Given the description of an element on the screen output the (x, y) to click on. 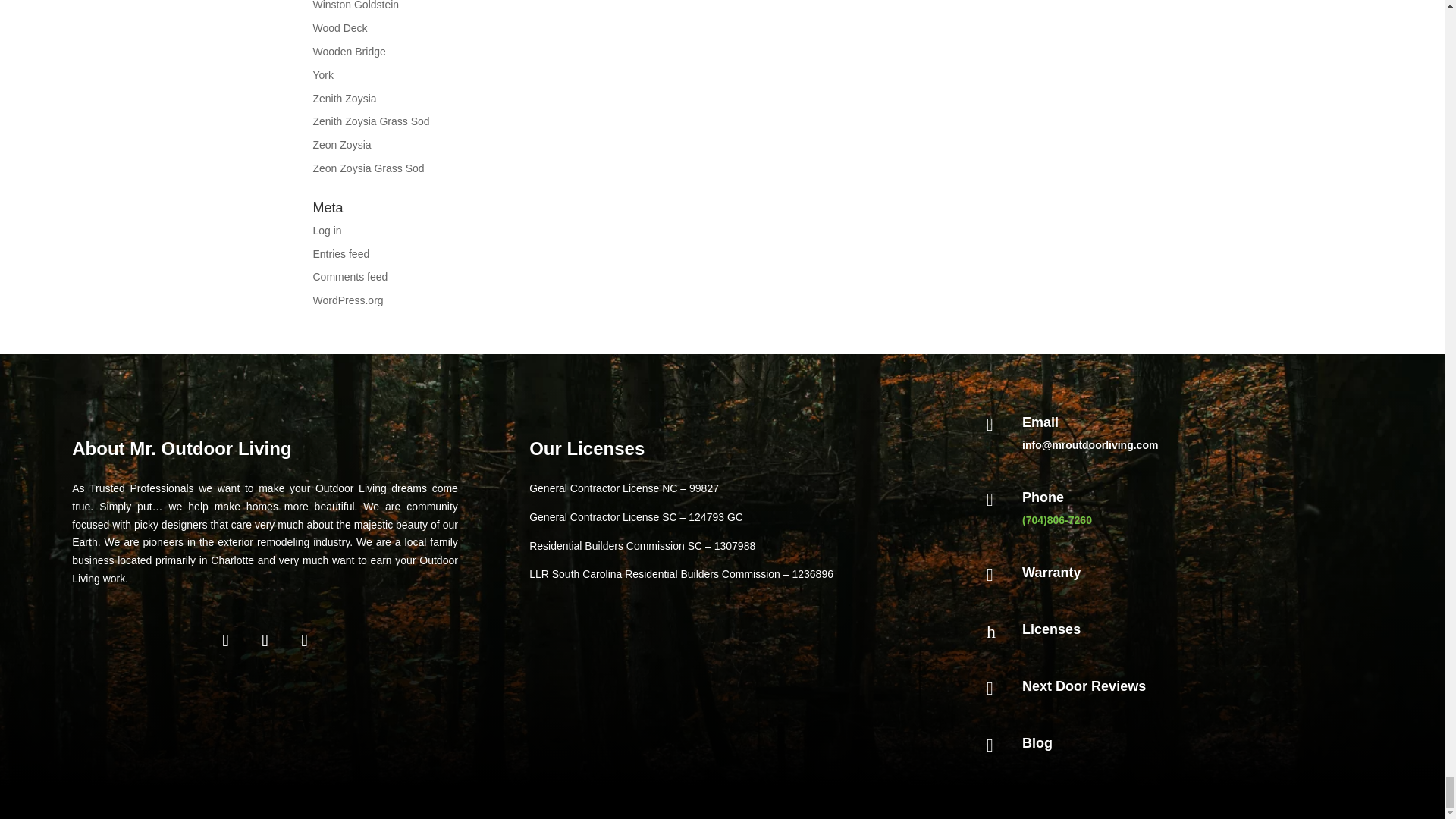
Follow on Instagram (265, 640)
Follow on Facebook (226, 640)
Follow on Youtube (304, 640)
